Given the description of an element on the screen output the (x, y) to click on. 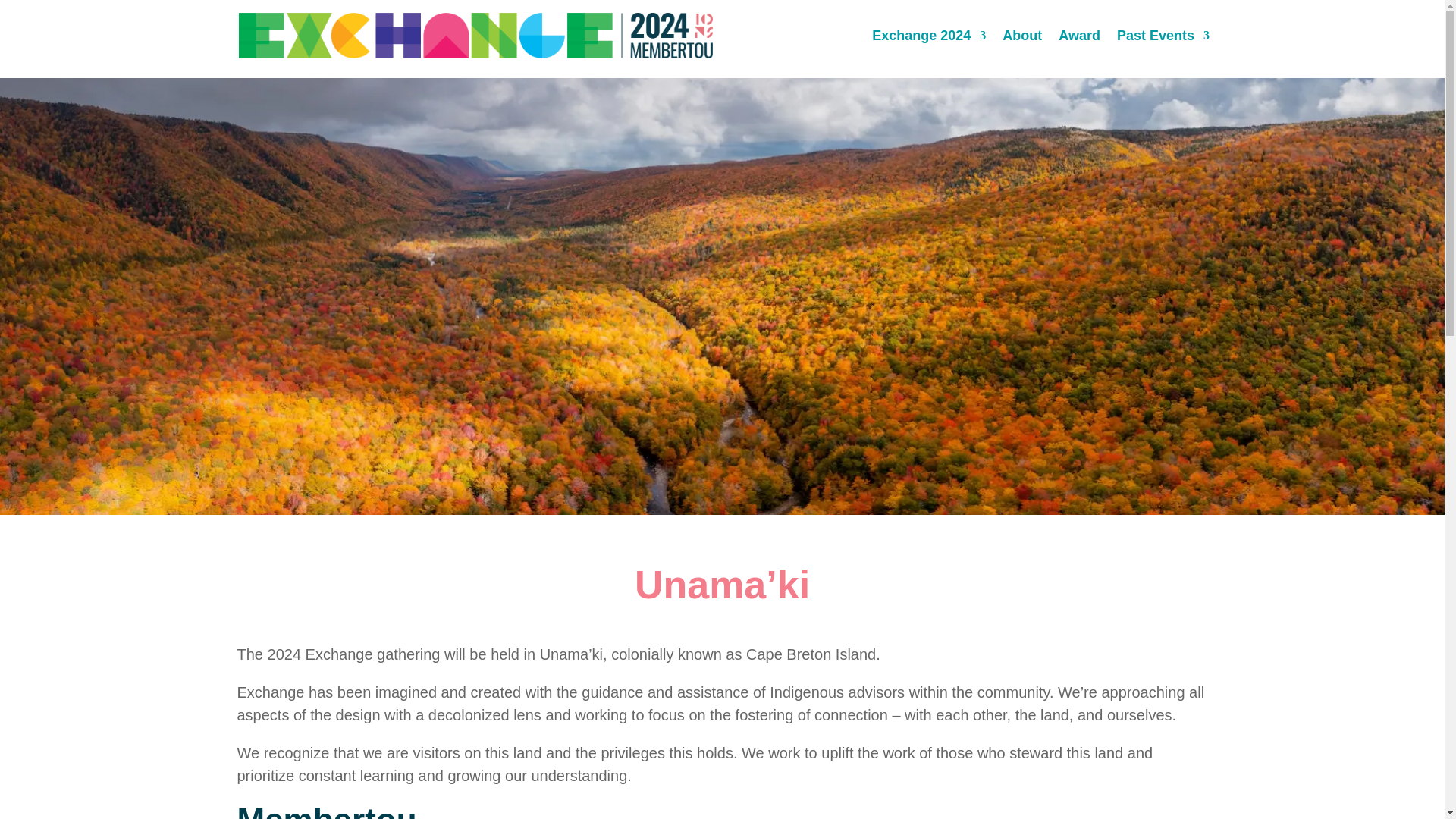
Exchange 2024 (928, 35)
Past Events (1162, 35)
